Given the description of an element on the screen output the (x, y) to click on. 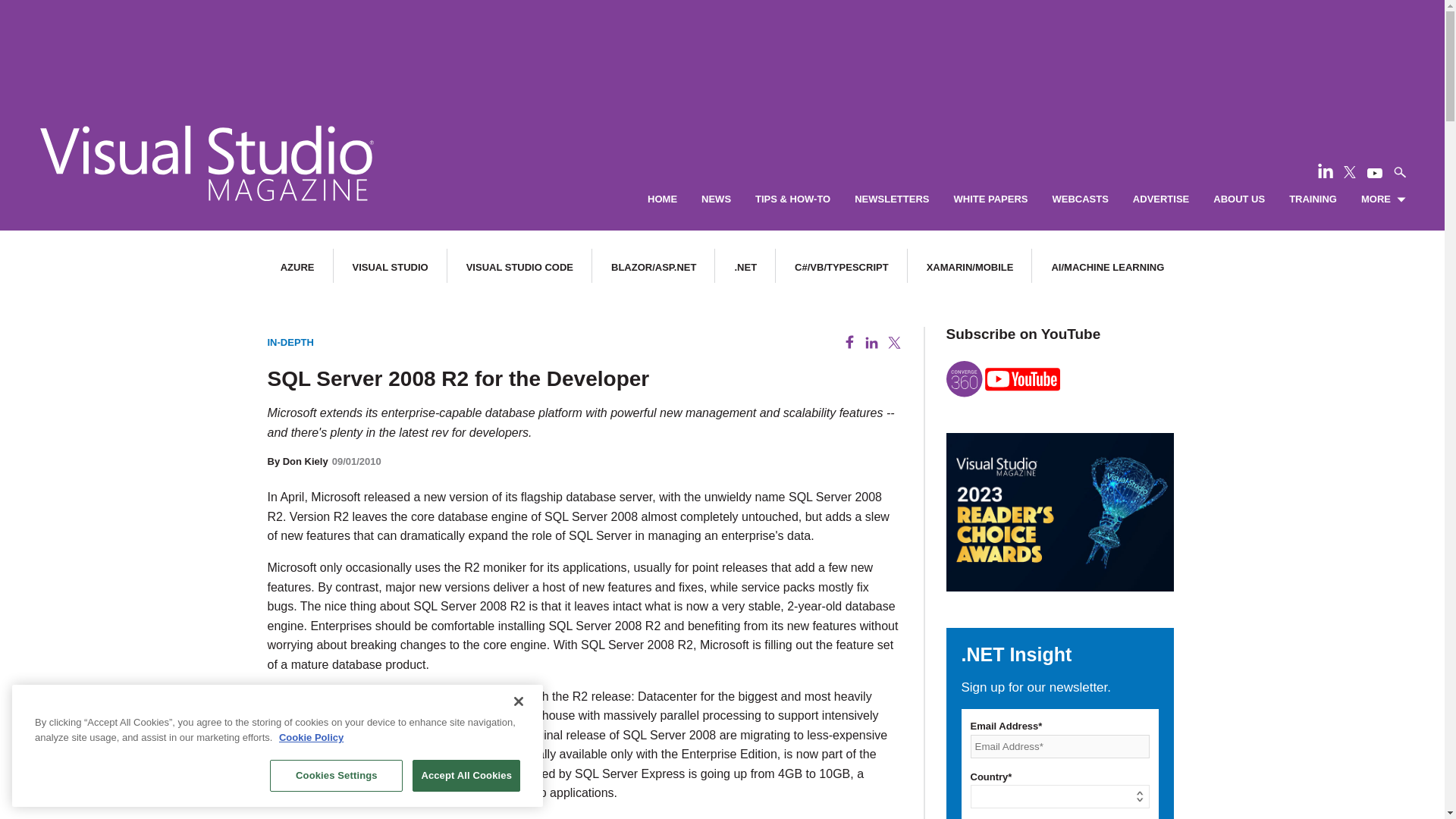
ADVERTISE (1160, 199)
NEWS (715, 199)
HOME (662, 199)
WHITE PAPERS (990, 199)
ABOUT US (1238, 199)
VISUAL STUDIO (390, 266)
NEWSLETTERS (891, 199)
MORE (1383, 199)
VISUAL STUDIO CODE (519, 266)
3rd party ad content (721, 45)
WEBCASTS (1079, 199)
TRAINING (1312, 199)
.NET (745, 266)
AZURE (297, 266)
